Given the description of an element on the screen output the (x, y) to click on. 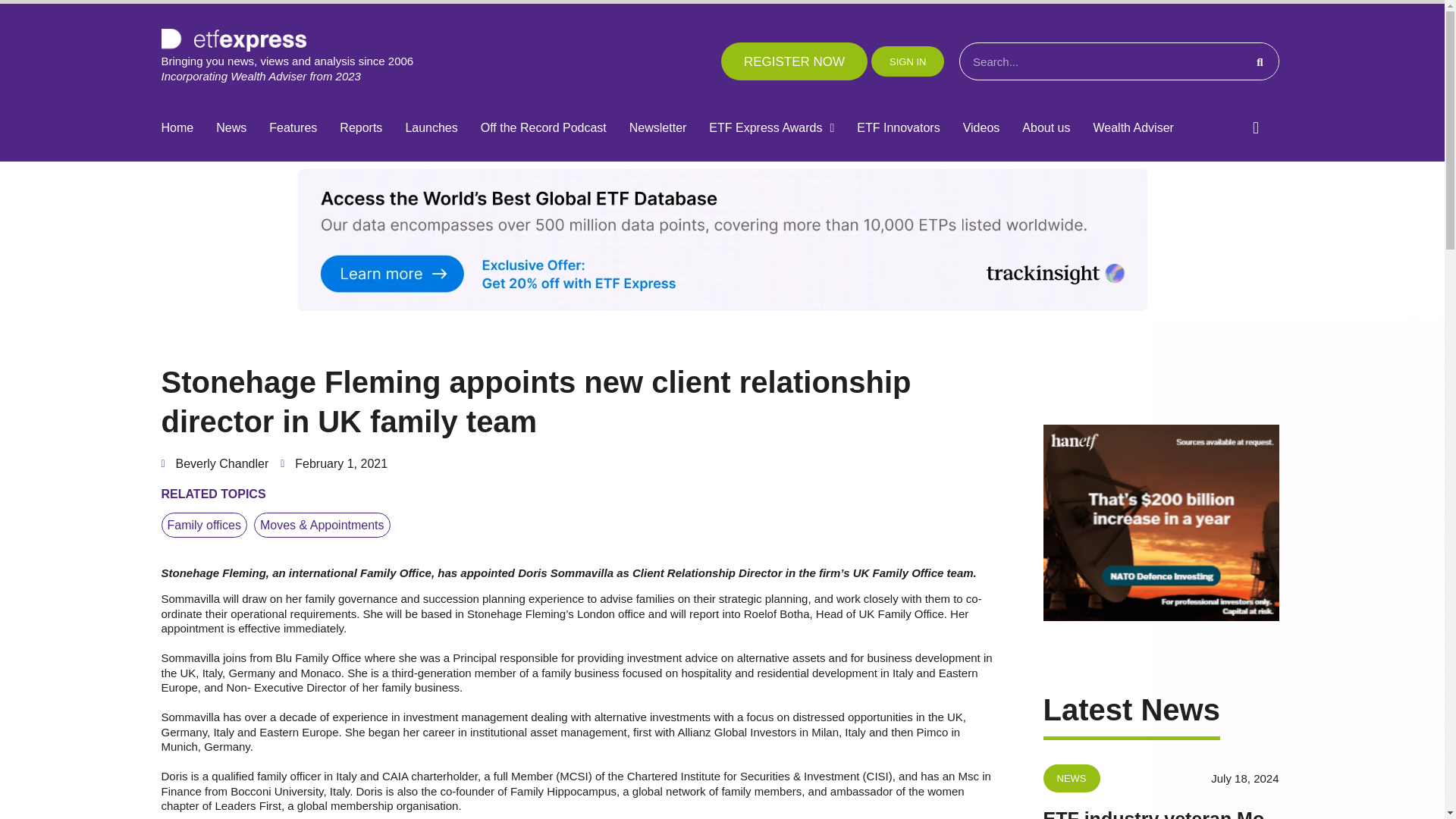
SIGN IN (906, 60)
Features (293, 128)
REGISTER NOW (793, 61)
